Given the description of an element on the screen output the (x, y) to click on. 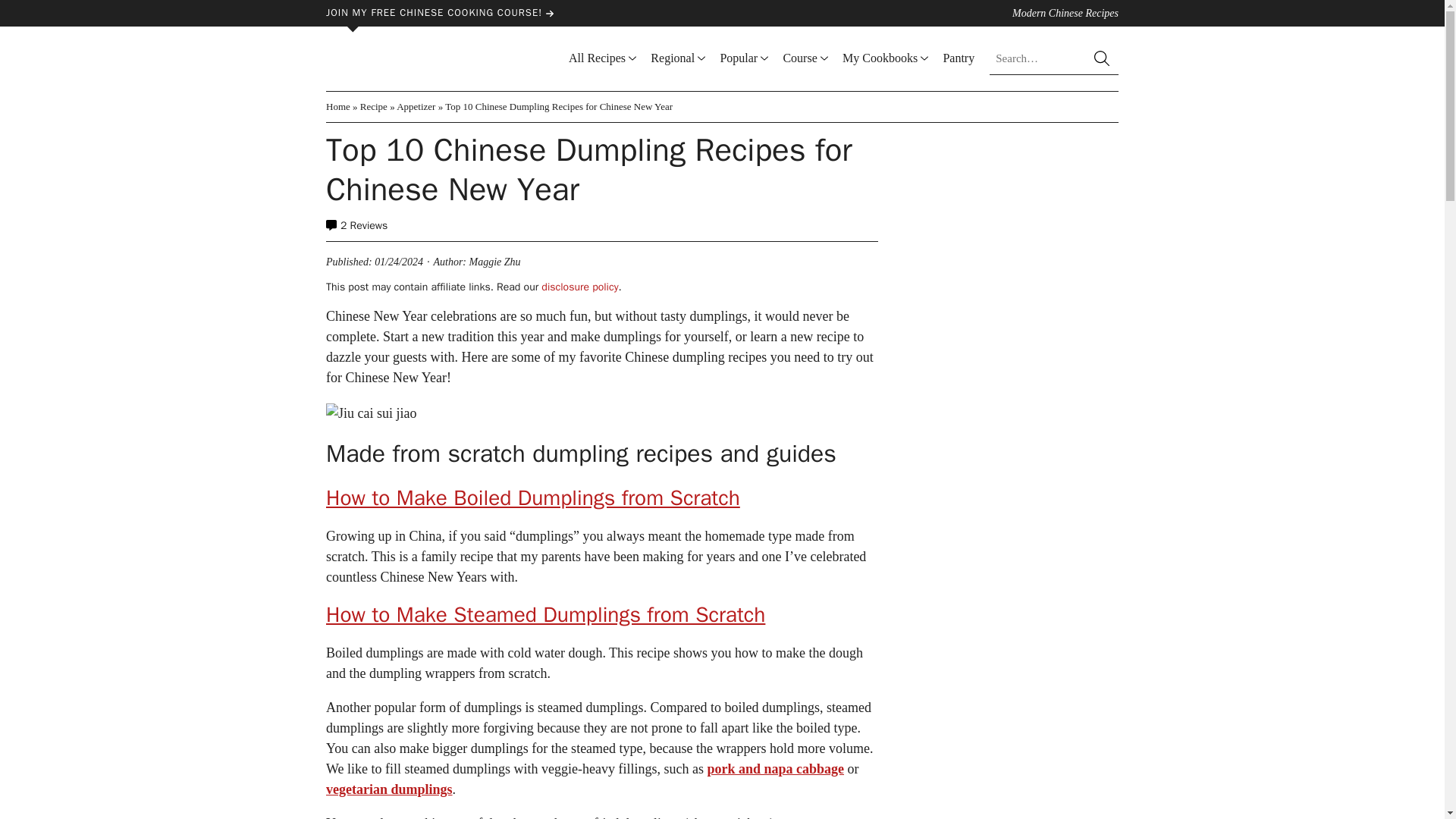
Regional (672, 58)
SUBMENU (823, 58)
SUBMENU (701, 58)
JOIN MY FREE CHINESE COOKING COURSE! (513, 12)
All Recipes (597, 58)
SUBMENU (764, 58)
Course (799, 58)
SUBMENU (632, 58)
Search for (1054, 58)
Popular (738, 58)
